Given the description of an element on the screen output the (x, y) to click on. 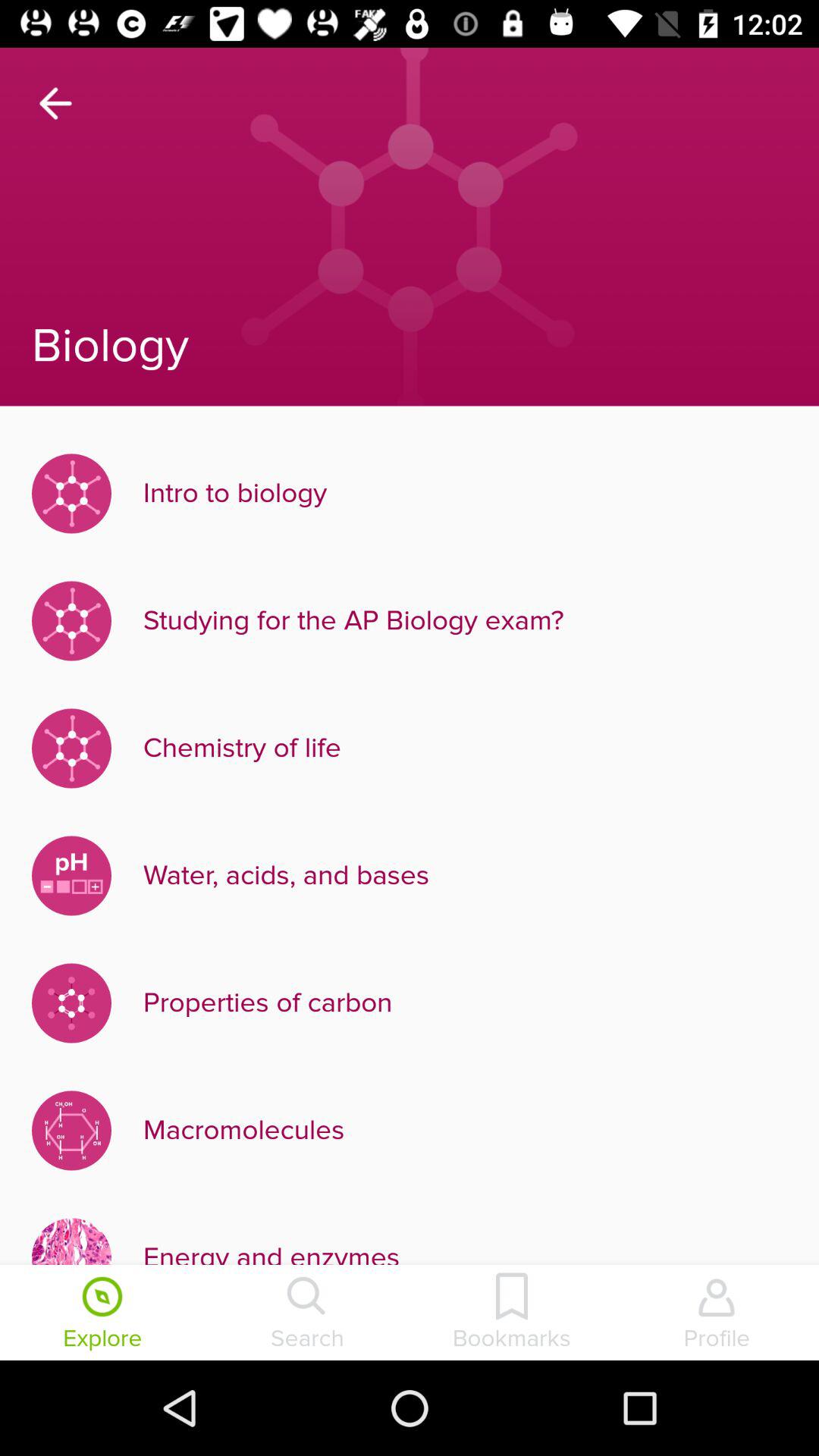
launch item above biology icon (55, 103)
